Given the description of an element on the screen output the (x, y) to click on. 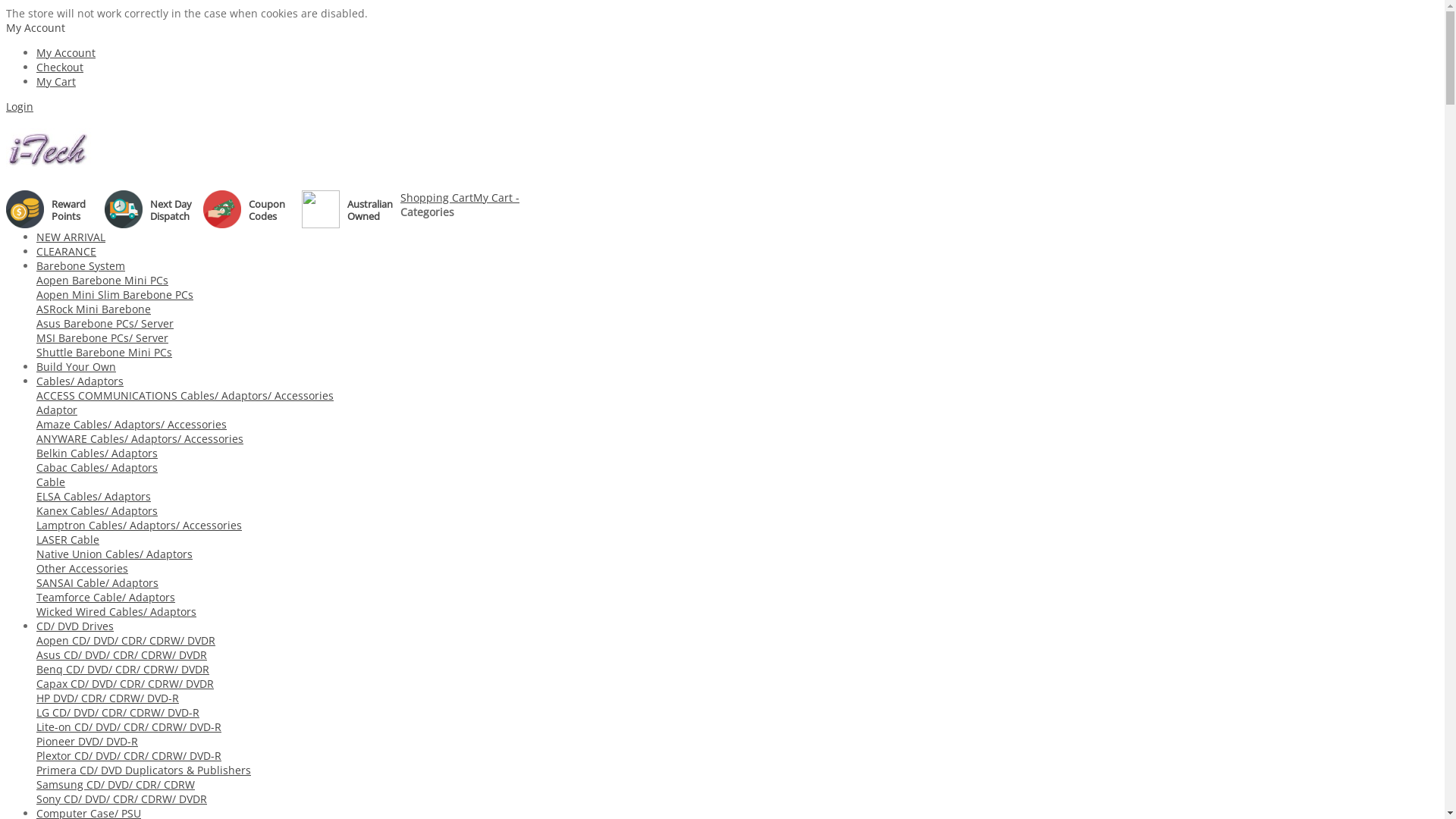
Cable Element type: text (50, 481)
Amaze Cables/ Adaptors/ Accessories Element type: text (131, 424)
NEW ARRIVAL Element type: text (70, 236)
Lamptron Cables/ Adaptors/ Accessories Element type: text (138, 524)
CD/ DVD Drives Element type: text (74, 625)
My Account Element type: text (65, 52)
CLEARANCE Element type: text (66, 251)
Capax CD/ DVD/ CDR/ CDRW/ DVDR Element type: text (124, 683)
ELSA Cables/ Adaptors Element type: text (93, 495)
ASRock Mini Barebone Element type: text (93, 308)
Sony CD/ DVD/ CDR/ CDRW/ DVDR Element type: text (121, 798)
Wicked Wired Cables/ Adaptors Element type: text (116, 610)
My Account Element type: text (35, 27)
Cabac Cables/ Adaptors Element type: text (96, 466)
Pioneer DVD/ DVD-R Element type: text (87, 741)
Barebone System Element type: text (80, 264)
Aopen Barebone Mini PCs Element type: text (102, 280)
Asus Barebone PCs/ Server Element type: text (104, 322)
MSI Barebone PCs/ Server Element type: text (102, 337)
Build Your Own Element type: text (76, 366)
Shopping CartMy Cart - Element type: text (459, 196)
Benq CD/ DVD/ CDR/ CDRW/ DVDR Element type: text (122, 668)
Samsung CD/ DVD/ CDR/ CDRW Element type: text (115, 783)
Plextor CD/ DVD/ CDR/ CDRW/ DVD-R Element type: text (128, 754)
Aopen CD/ DVD/ CDR/ CDRW/ DVDR Element type: text (125, 639)
Adaptor Element type: text (56, 408)
LG CD/ DVD/ CDR/ CDRW/ DVD-R Element type: text (117, 712)
Lite-on CD/ DVD/ CDR/ CDRW/ DVD-R Element type: text (128, 725)
Teamforce Cable/ Adaptors Element type: text (105, 596)
Aopen Mini Slim Barebone PCs Element type: text (114, 293)
SANSAI Cable/ Adaptors Element type: text (97, 581)
ACCESS COMMUNICATIONS Cables/ Adaptors/ Accessories Element type: text (184, 395)
Shuttle Barebone Mini PCs Element type: text (104, 351)
ANYWARE Cables/ Adaptors/ Accessories Element type: text (139, 437)
Asus CD/ DVD/ CDR/ CDRW/ DVDR Element type: text (121, 654)
Login Element type: text (19, 106)
Primera CD/ DVD Duplicators & Publishers Element type: text (143, 769)
My Cart Element type: text (55, 81)
HP DVD/ CDR/ CDRW/ DVD-R Element type: text (107, 697)
Belkin Cables/ Adaptors Element type: text (96, 452)
Cables/ Adaptors Element type: text (79, 380)
Kanex Cables/ Adaptors Element type: text (96, 510)
Checkout Element type: text (59, 66)
Native Union Cables/ Adaptors Element type: text (114, 553)
LASER Cable Element type: text (67, 539)
Other Accessories Element type: text (82, 568)
